Given the description of an element on the screen output the (x, y) to click on. 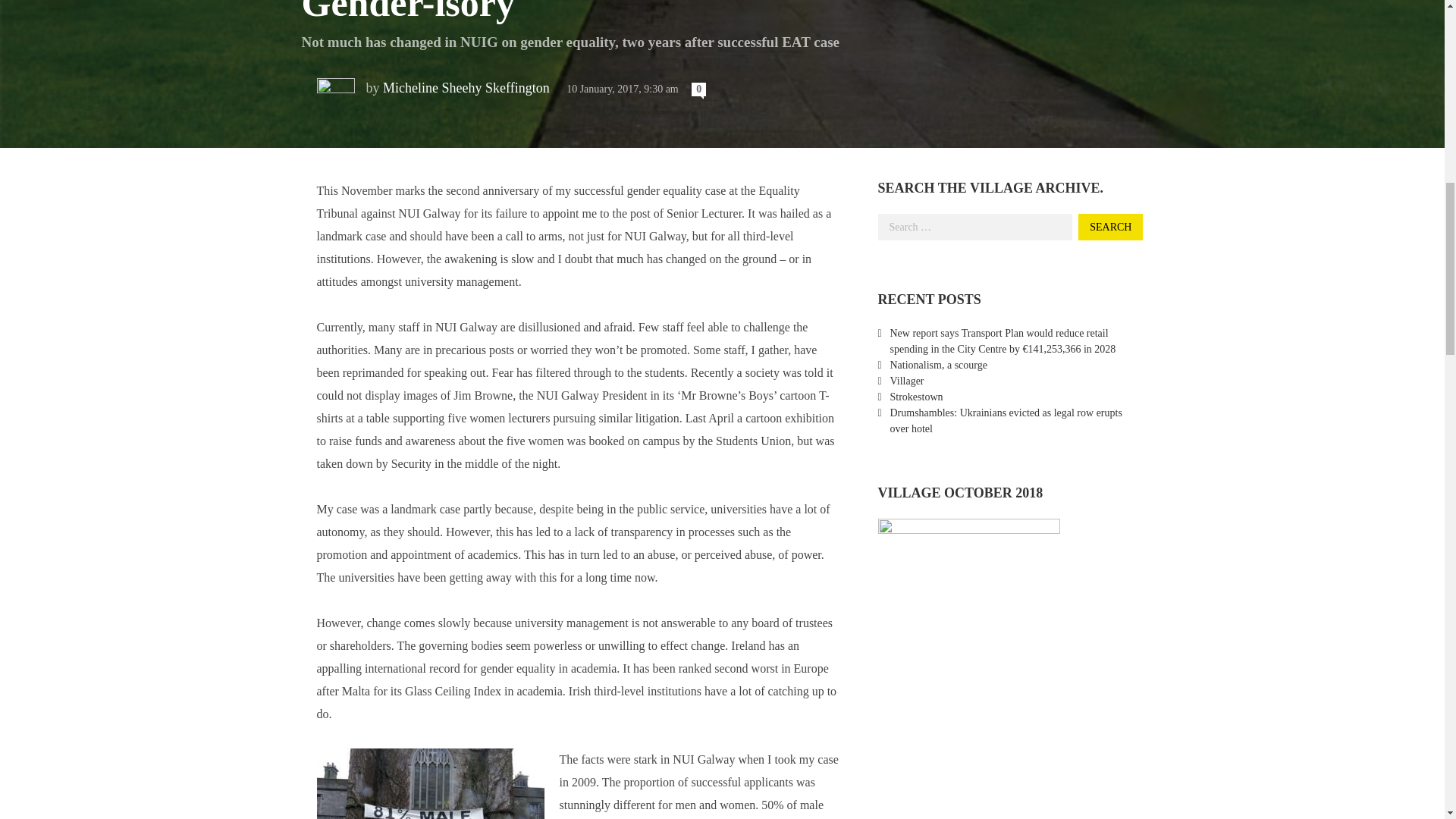
Search (1110, 226)
Search for: (975, 226)
Posts by Micheline Sheehy Skeffington (467, 87)
Search (1110, 226)
